Given the description of an element on the screen output the (x, y) to click on. 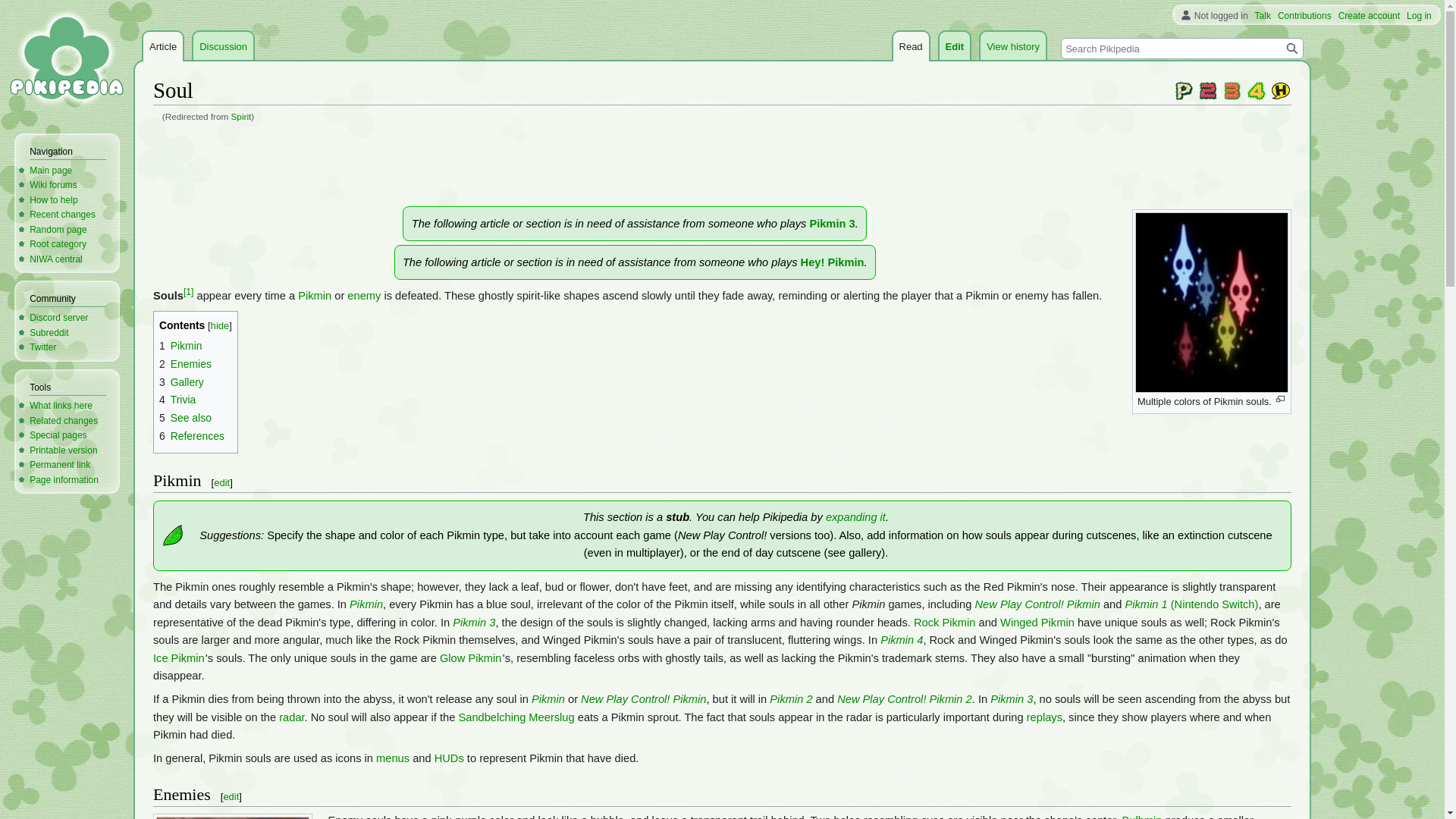
Go (1292, 48)
Enemy (363, 295)
edit (222, 482)
5 See also (184, 417)
Pikmin 2 (1207, 90)
Pikmin 3 (473, 622)
Hey! Pikmin (832, 262)
Pikmin 4 (1256, 90)
Spirit (241, 116)
